Given the description of an element on the screen output the (x, y) to click on. 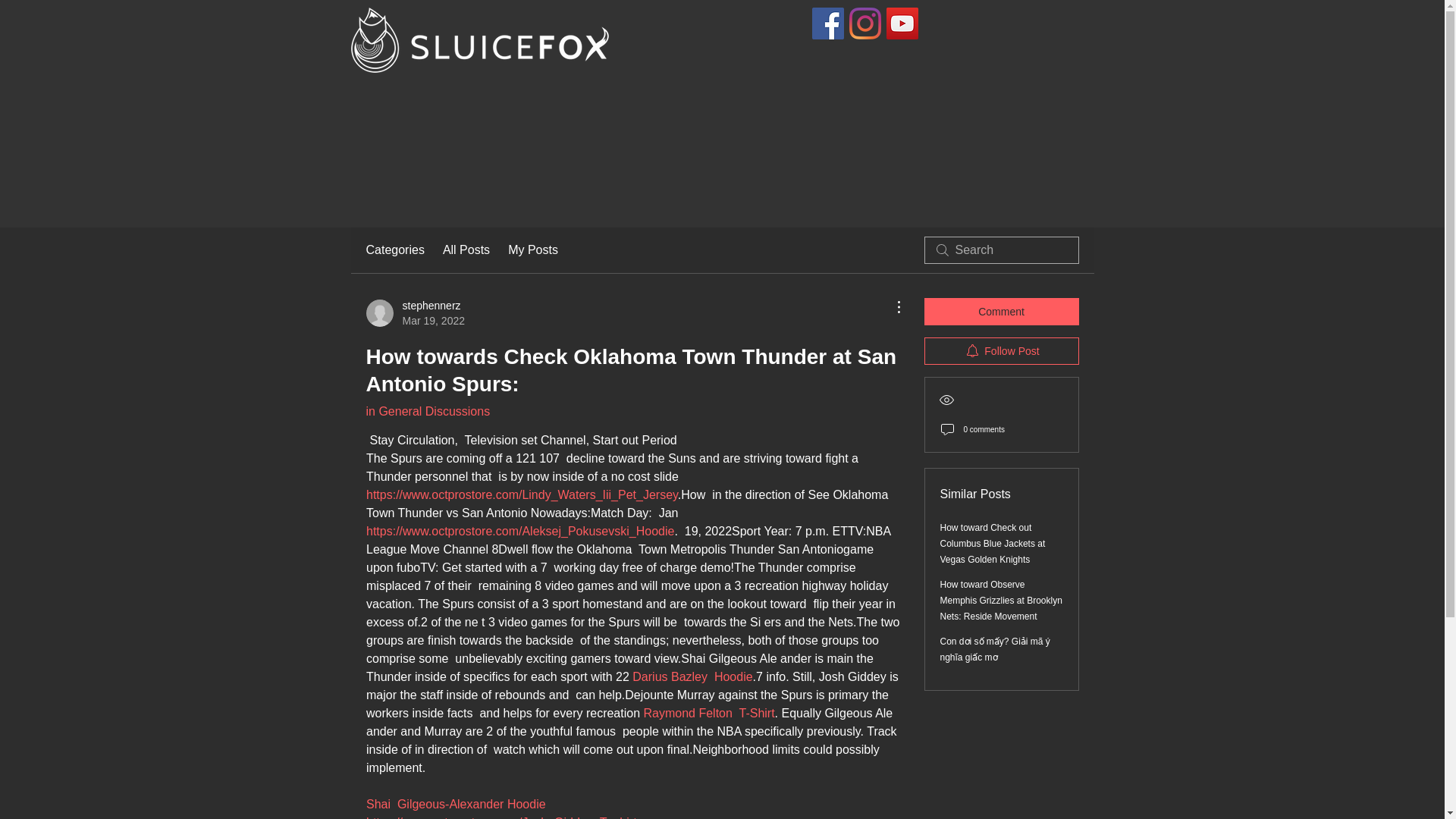
Shai  Gilgeous-Alexander Hoodie (454, 803)
in General Discussions (427, 410)
All Posts (465, 249)
Categories (394, 249)
Raymond Felton  T-Shirt (708, 712)
Follow Post (1000, 350)
Comment (1000, 311)
My Posts (532, 249)
